Given the description of an element on the screen output the (x, y) to click on. 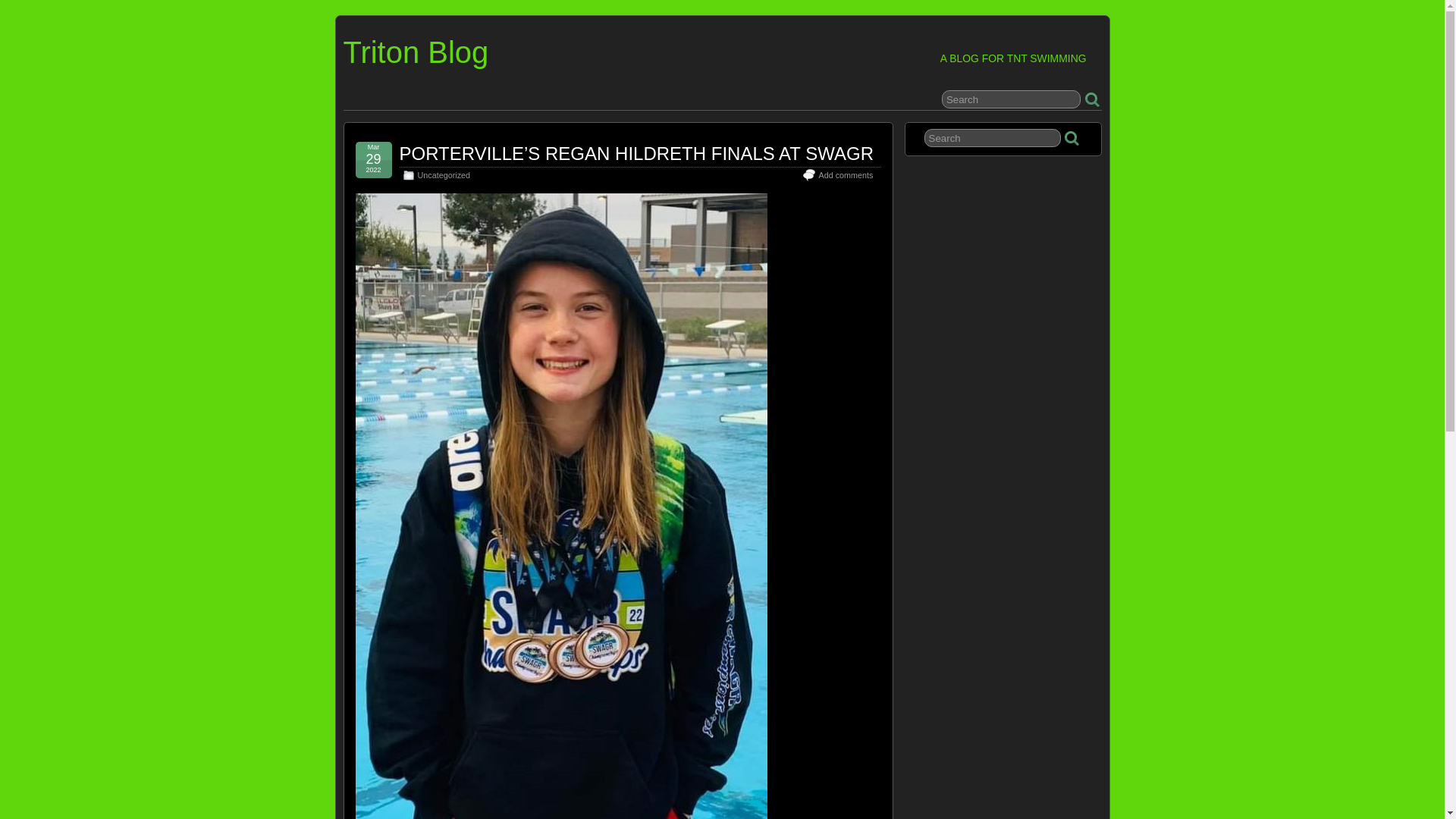
Add comments (845, 174)
Uncategorized (443, 174)
Triton Blog (414, 52)
Search (1011, 99)
Search (992, 137)
Search (1011, 99)
Search (992, 137)
